Given the description of an element on the screen output the (x, y) to click on. 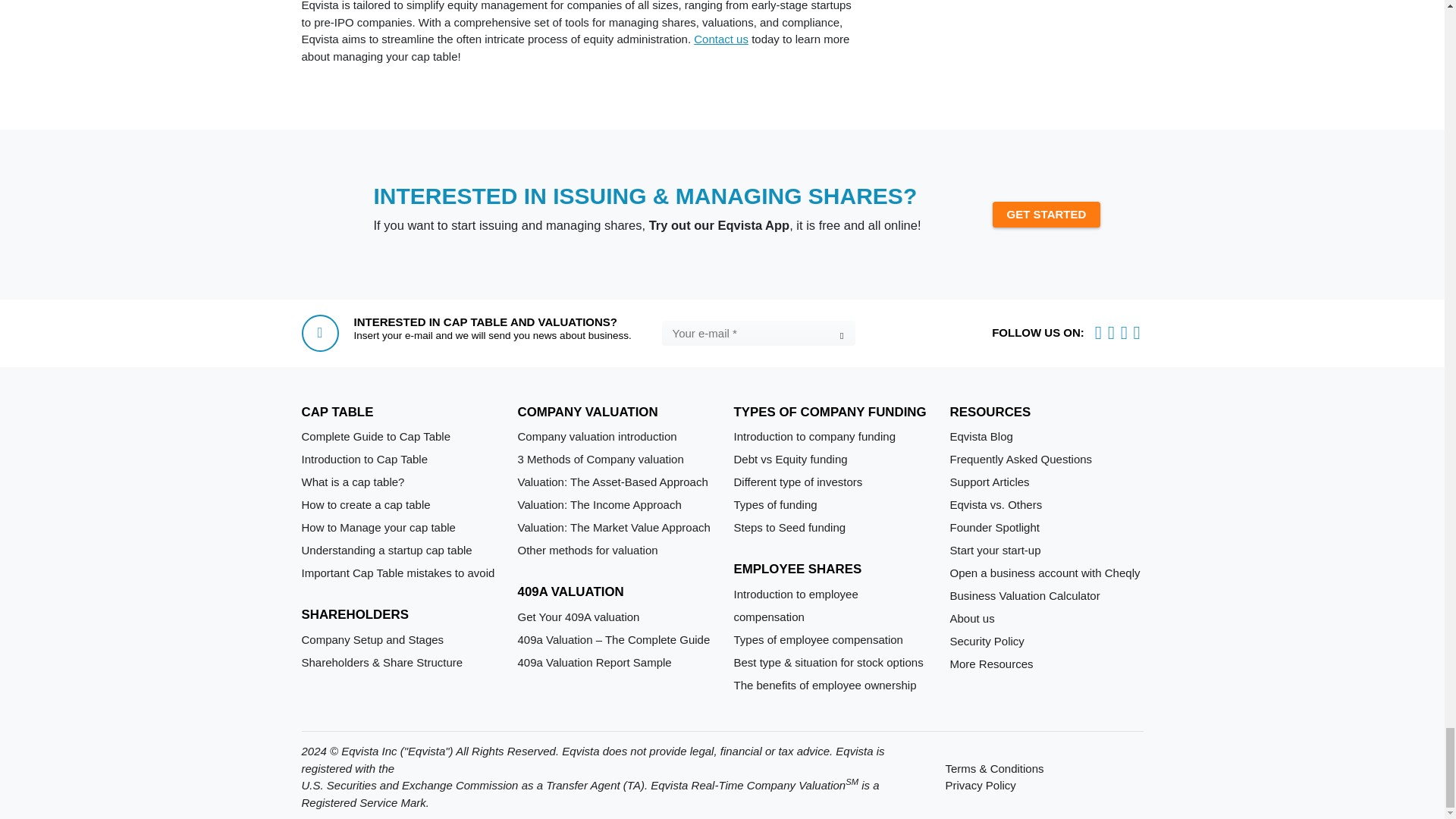
Your e-mail (757, 333)
Contact us (721, 38)
Subscribe! (839, 335)
